Given the description of an element on the screen output the (x, y) to click on. 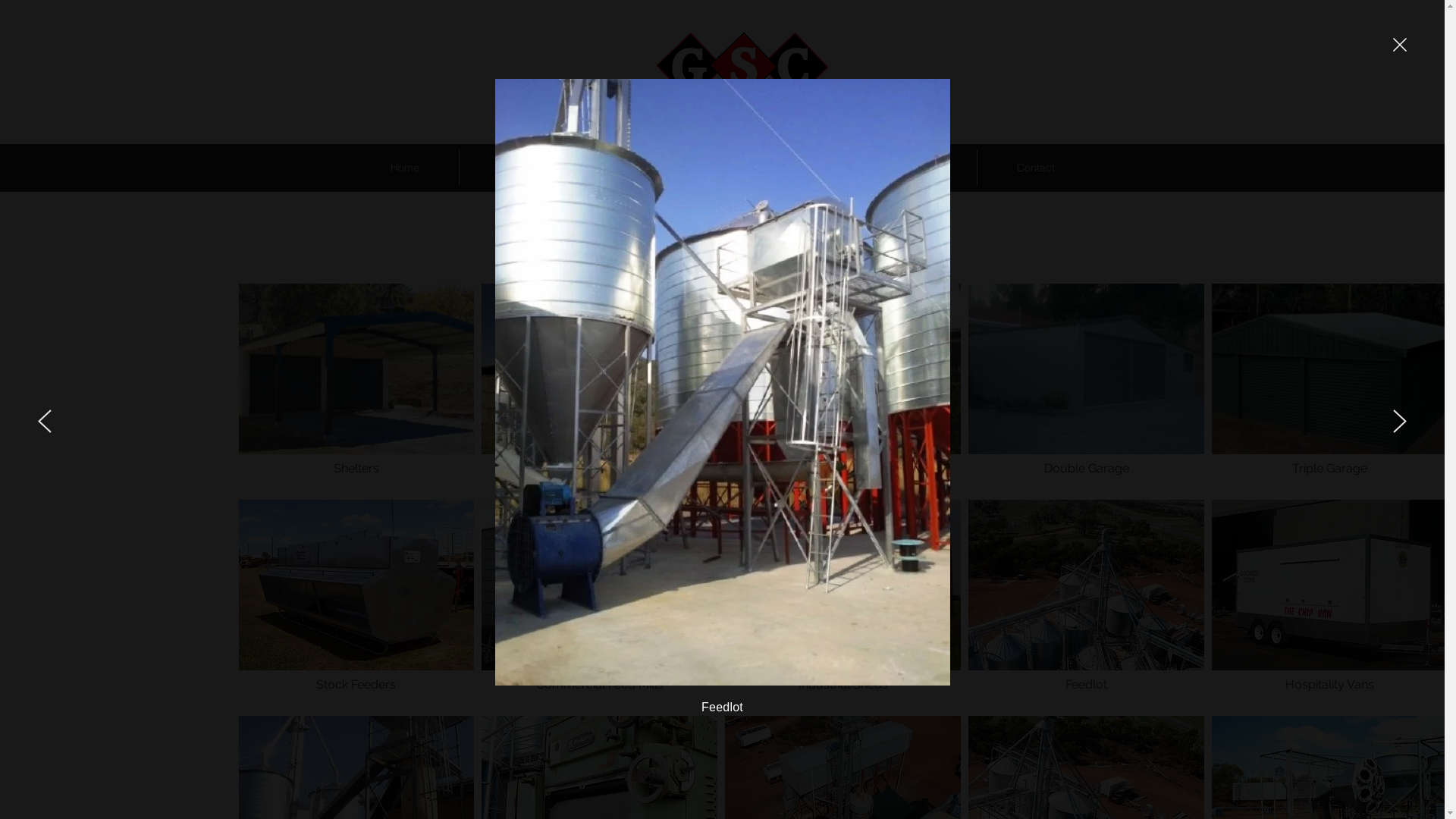
Photo Gallery Element type: text (798, 167)
Contact Element type: text (1034, 167)
Our Services Element type: text (654, 167)
Home Element type: text (404, 167)
About Us Element type: text (521, 167)
News Element type: text (922, 167)
